Given the description of an element on the screen output the (x, y) to click on. 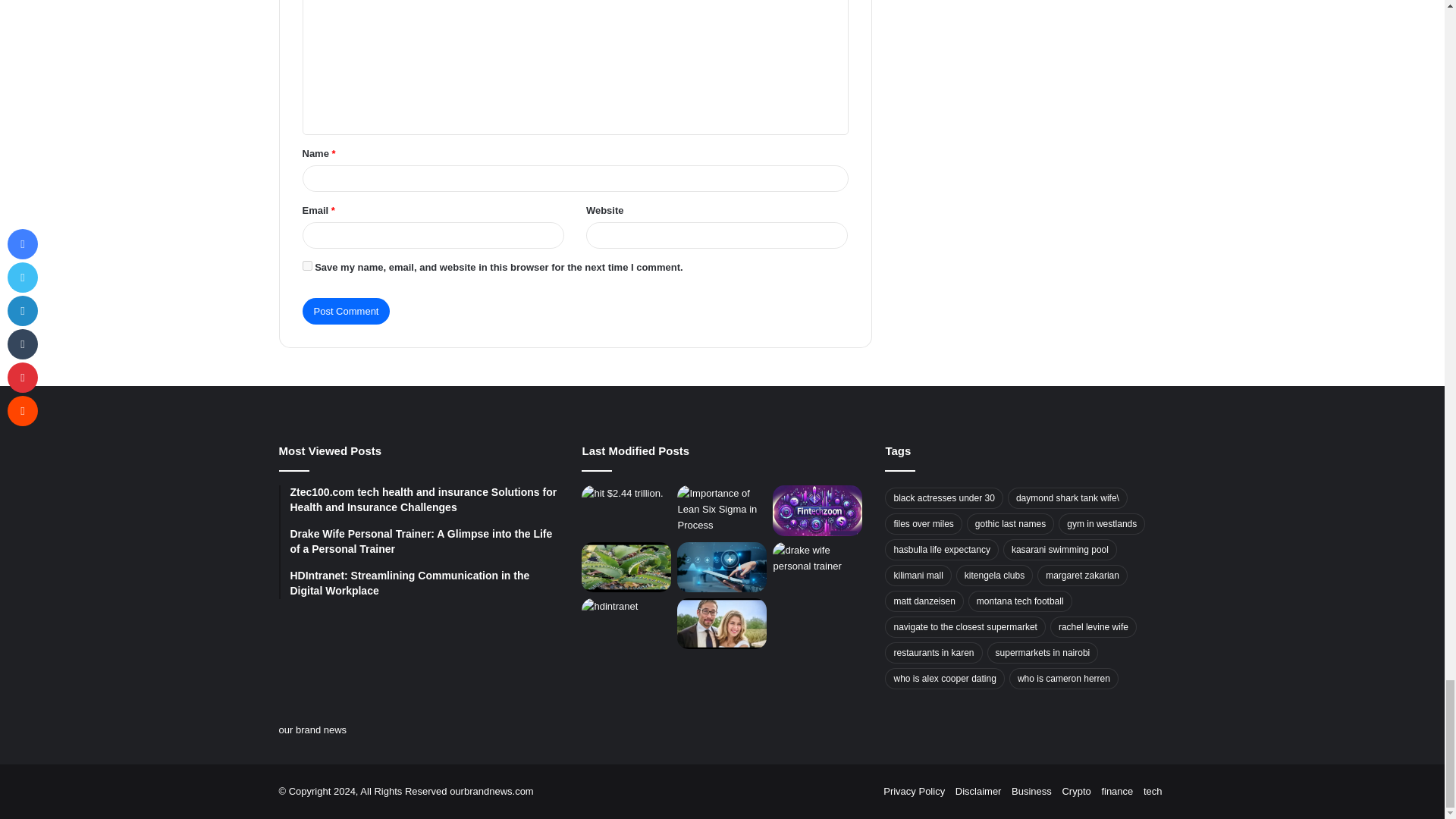
yes (306, 266)
Post Comment (345, 311)
